Given the description of an element on the screen output the (x, y) to click on. 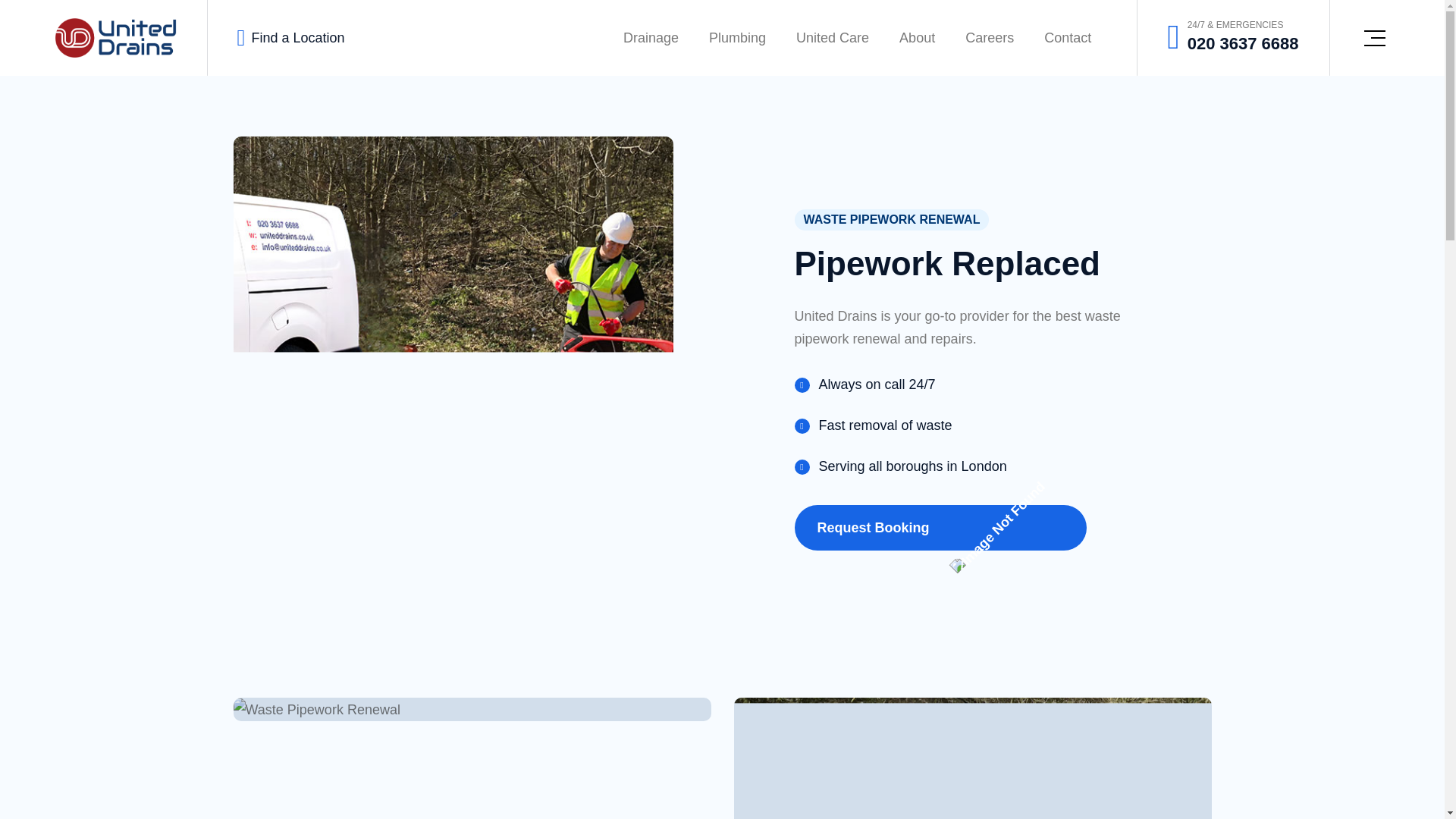
020 3637 6688 (1243, 42)
Request Booking (940, 527)
United Care (832, 38)
Find a Location (296, 37)
